Given the description of an element on the screen output the (x, y) to click on. 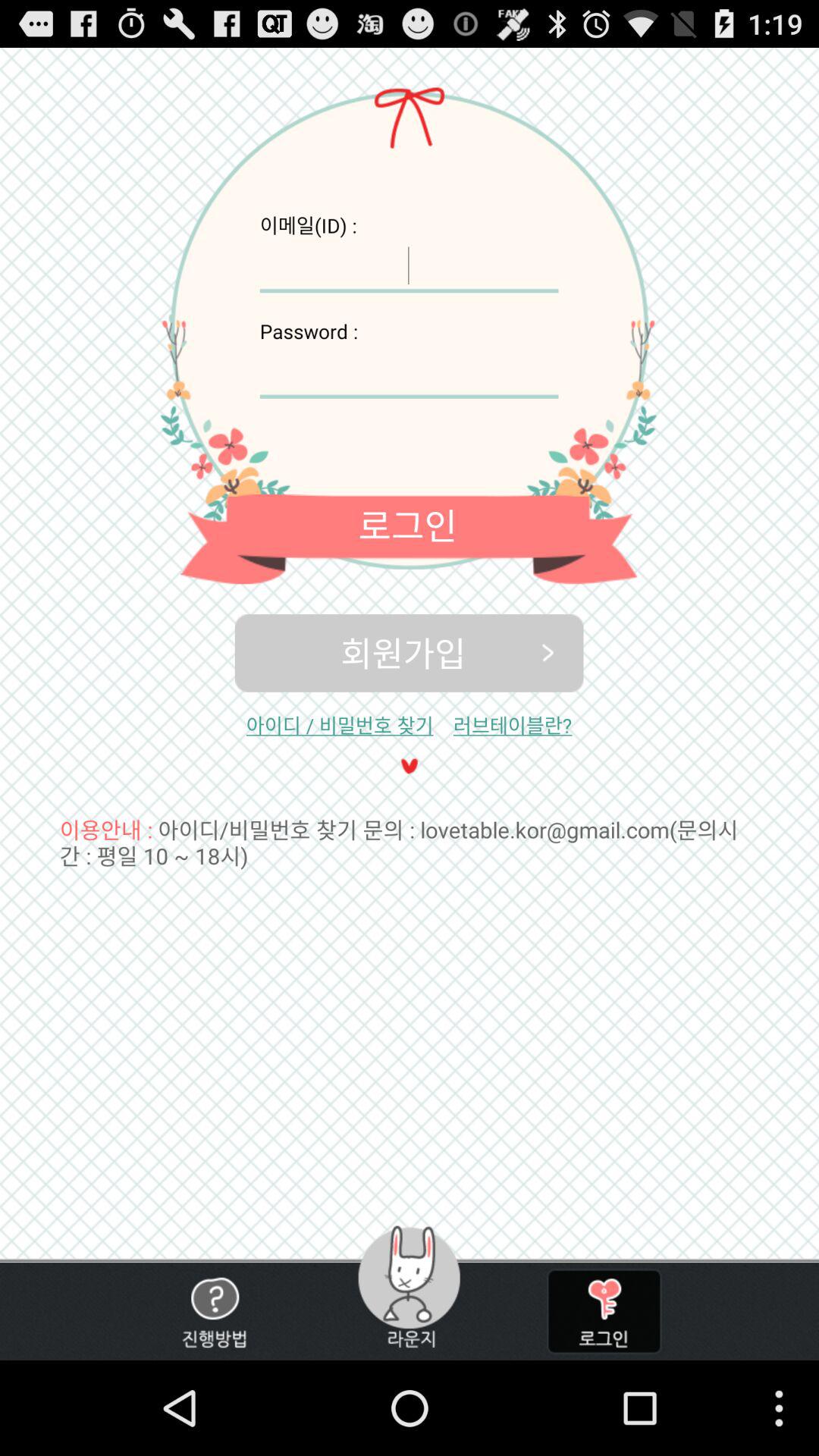
open button at the bottom left corner (213, 1311)
